Given the description of an element on the screen output the (x, y) to click on. 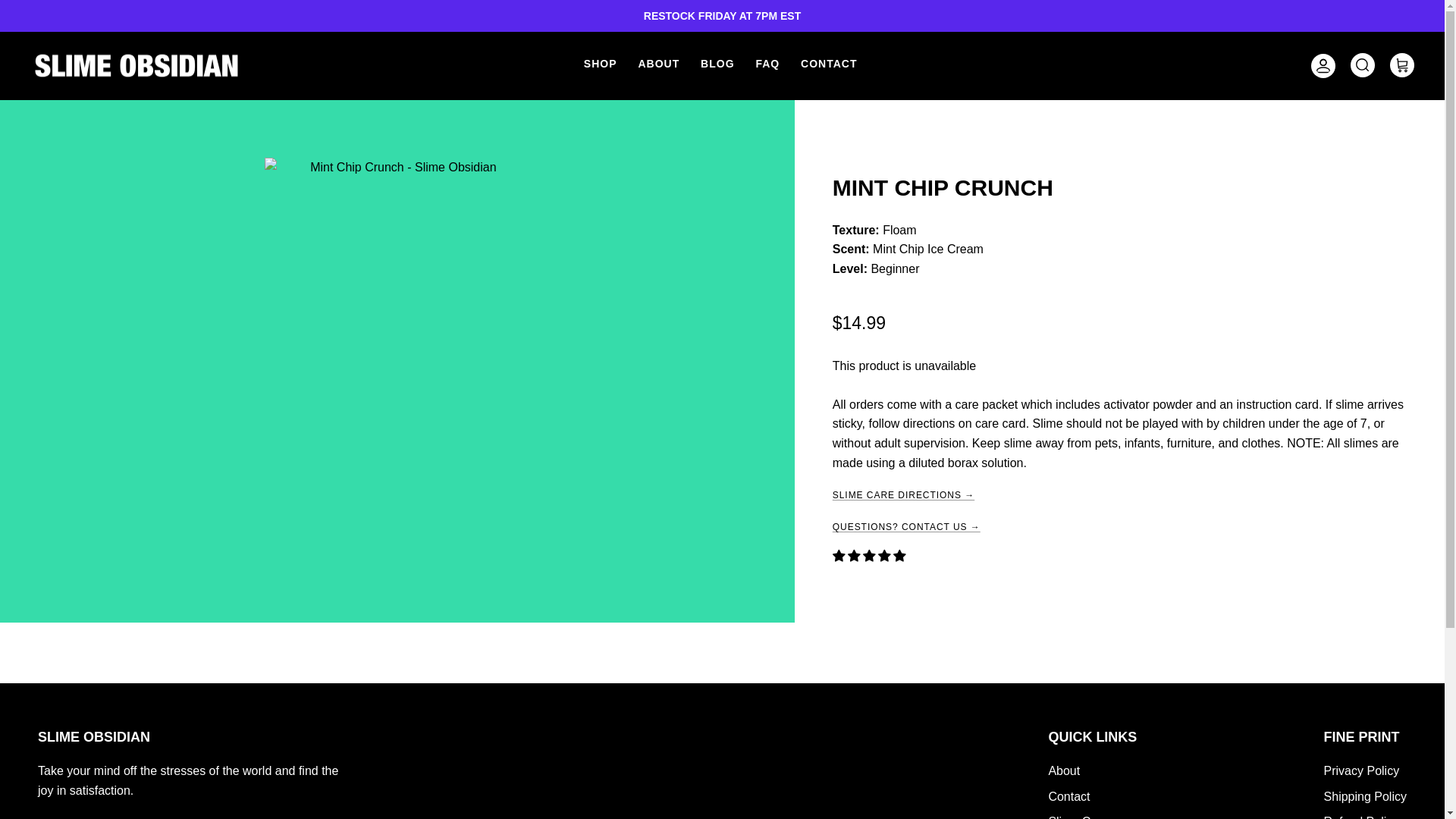
SHOP (600, 63)
Slime Care (1078, 816)
FAQ (767, 63)
Cart (1401, 65)
Contact (1068, 796)
BLOG (716, 63)
Search (1362, 65)
Account (1319, 65)
About (1064, 770)
Slime Obsidian (136, 65)
ABOUT (658, 63)
CONTACT (829, 63)
